Given the description of an element on the screen output the (x, y) to click on. 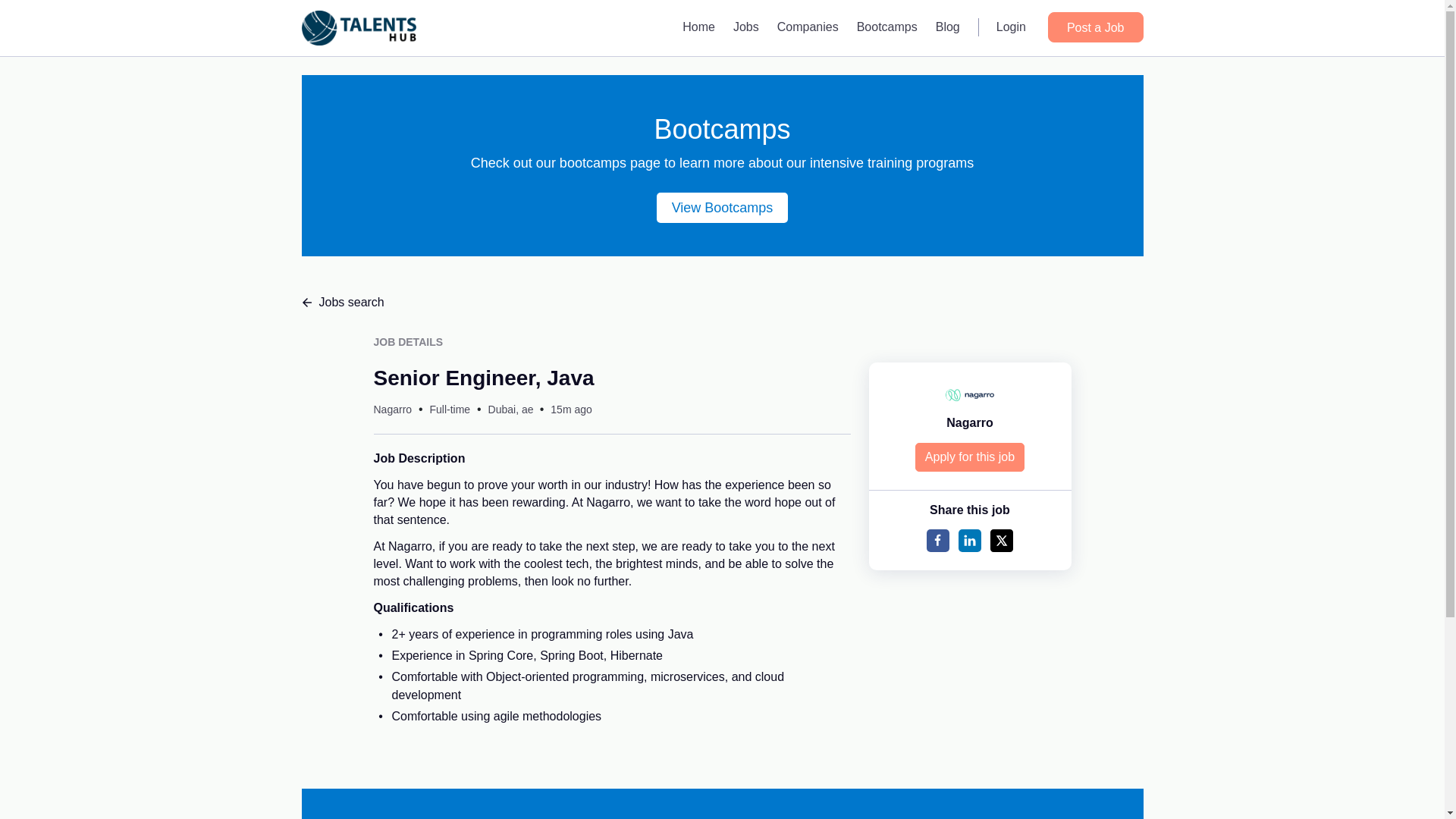
Apply for this job (970, 457)
Full-time (449, 409)
Jobs (745, 26)
View Bootcamps (722, 207)
Jobs search (721, 302)
Home (697, 26)
Share to Twitter (1001, 540)
Nagarro (969, 422)
Blog (947, 26)
Nagarro (392, 409)
